Given the description of an element on the screen output the (x, y) to click on. 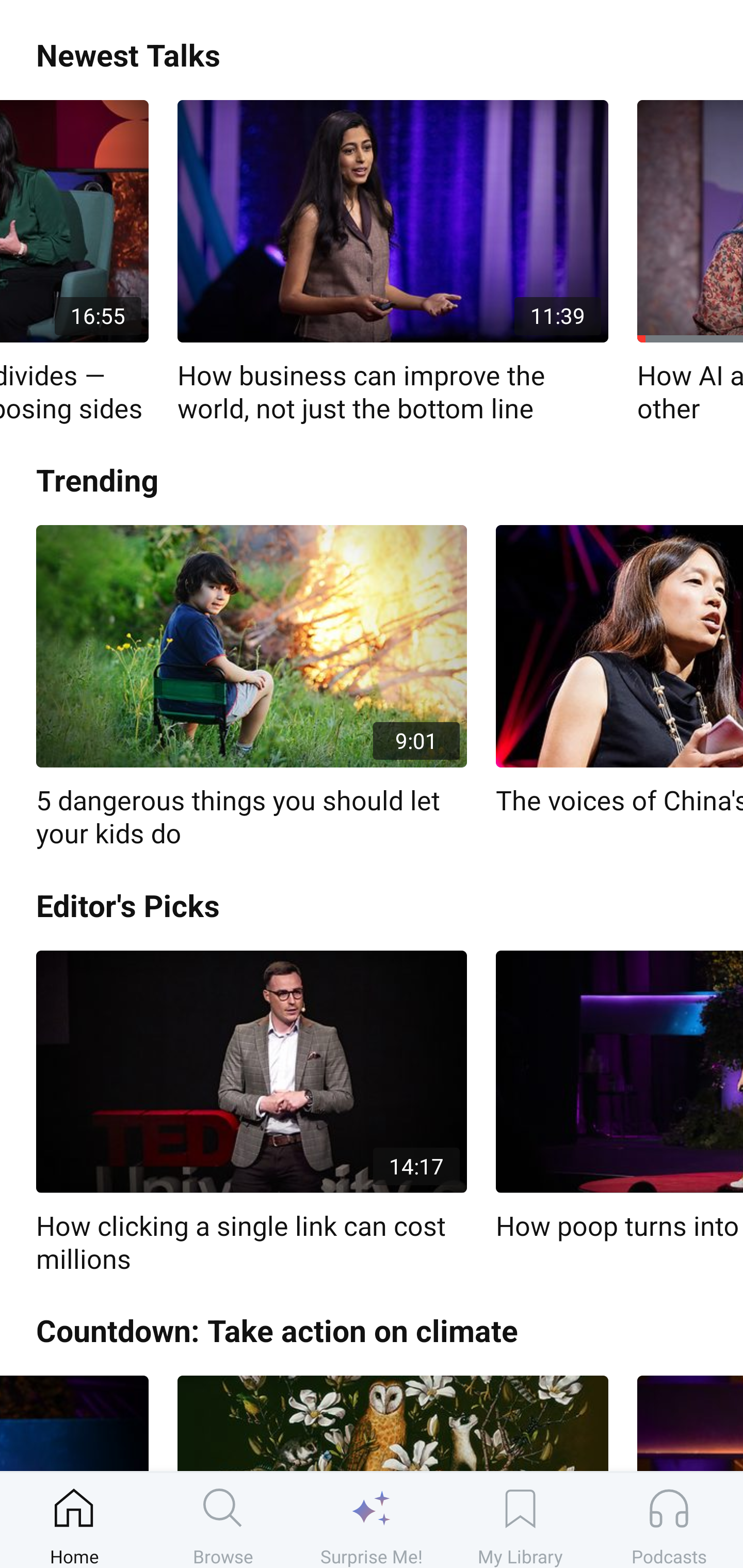
The voices of China's workers (619, 671)
14:17 How clicking a single link can cost millions (251, 1113)
Home (74, 1520)
Browse (222, 1520)
Surprise Me! (371, 1520)
My Library (519, 1520)
Podcasts (668, 1520)
